Given the description of an element on the screen output the (x, y) to click on. 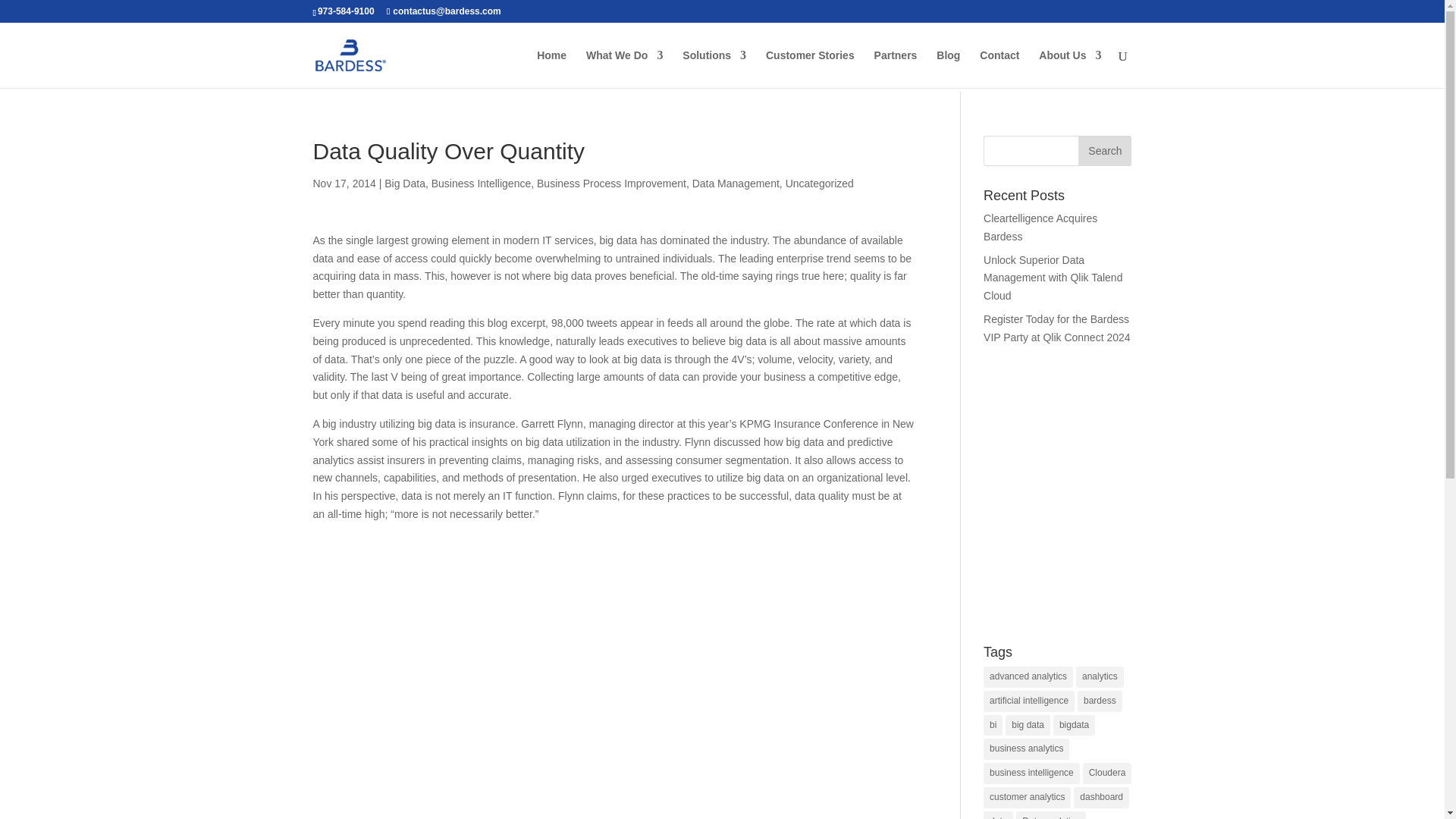
Big Data (404, 183)
What We Do (624, 68)
Business Process Improvement (611, 183)
Contact (999, 68)
About Us (1069, 68)
Blog (947, 68)
Home (551, 68)
Partners (896, 68)
Business Intelligence (480, 183)
Data Management (735, 183)
Solutions (713, 68)
Customer Stories (809, 68)
Uncategorized (819, 183)
Search (1104, 150)
